Given the description of an element on the screen output the (x, y) to click on. 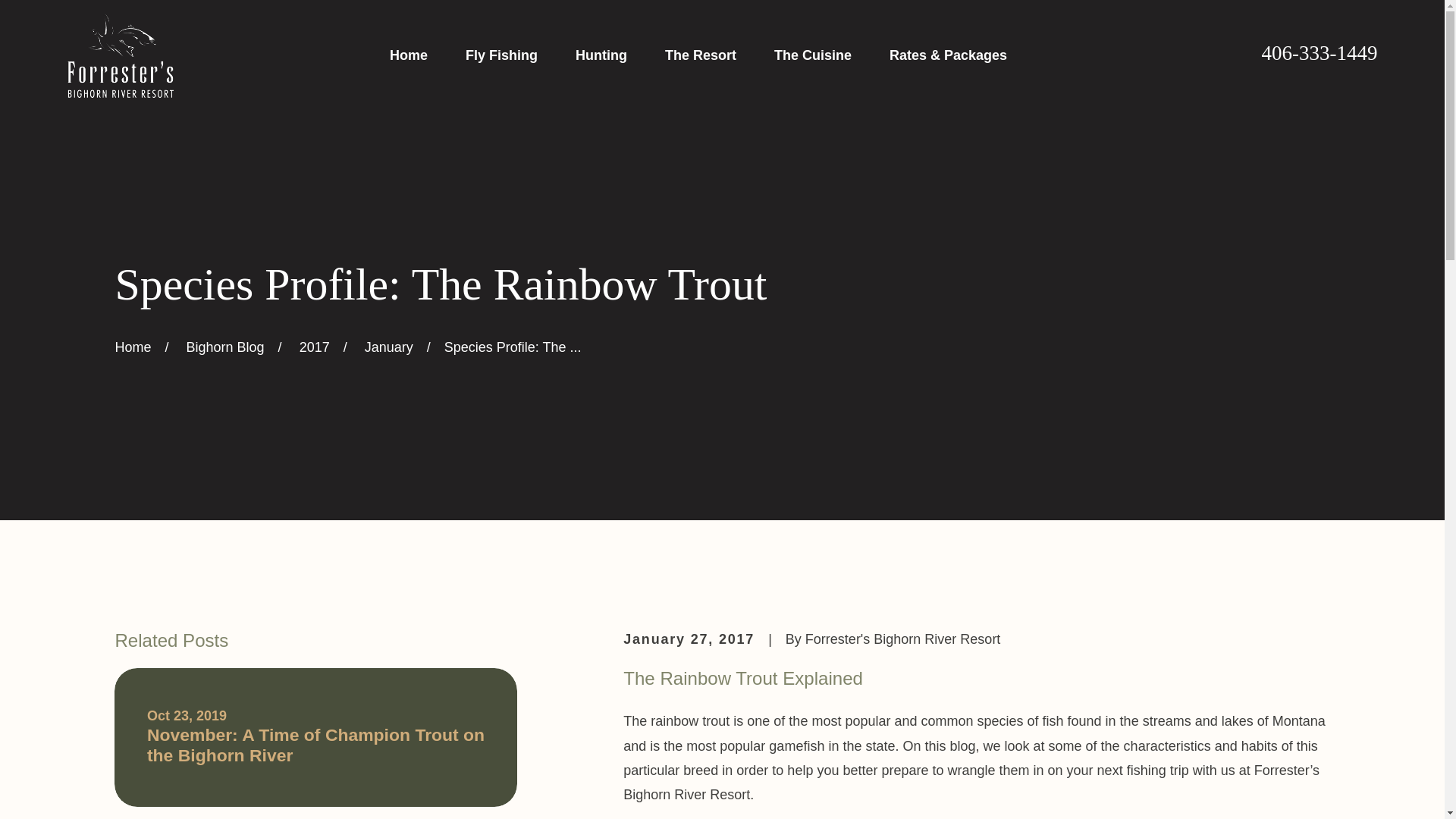
Fly Fishing (501, 55)
Hunting (601, 55)
The Resort (700, 55)
Go Home (133, 346)
Home (119, 55)
The Cuisine (812, 55)
